Given the description of an element on the screen output the (x, y) to click on. 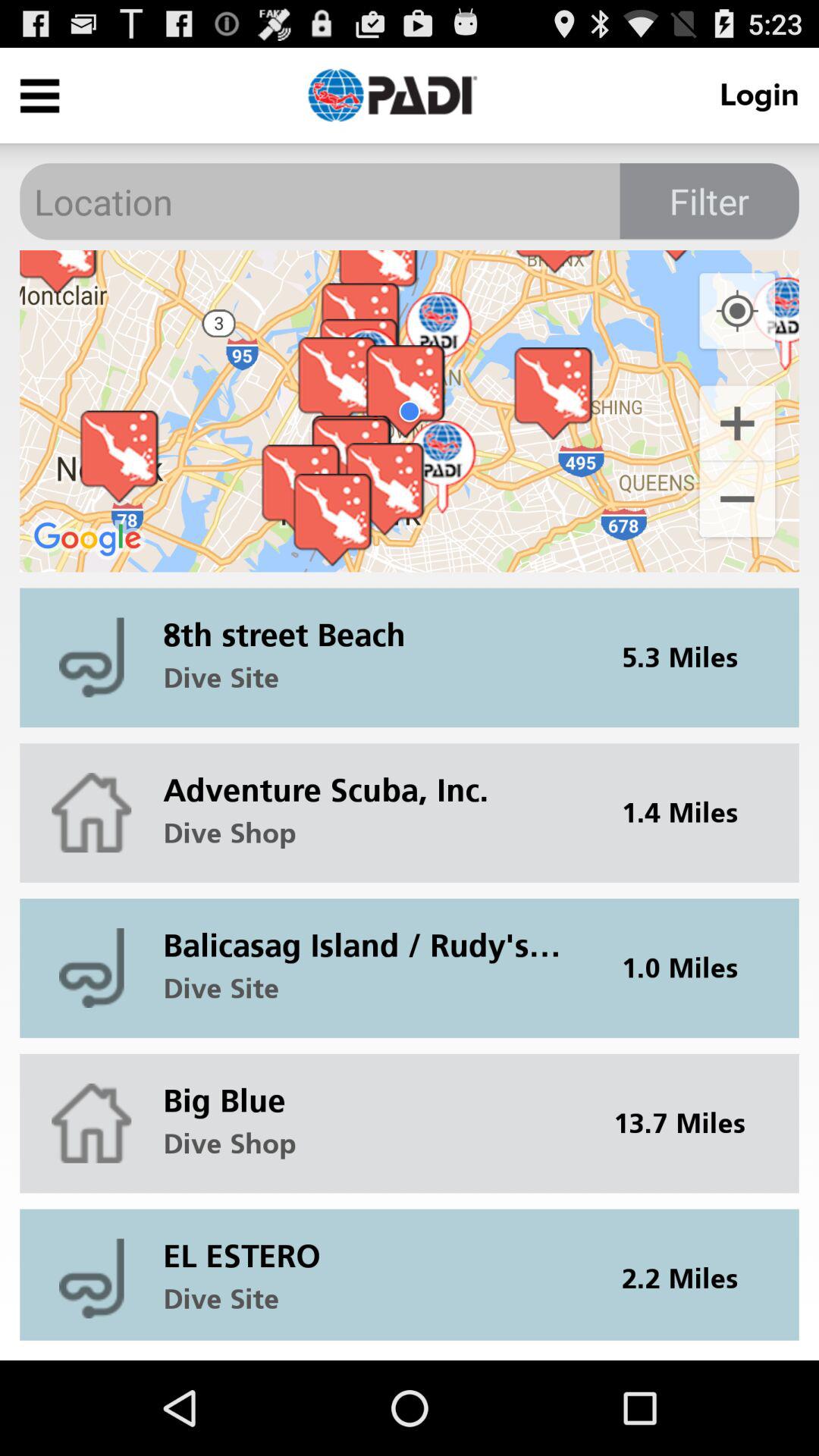
scroll to big blue item (371, 1088)
